Given the description of an element on the screen output the (x, y) to click on. 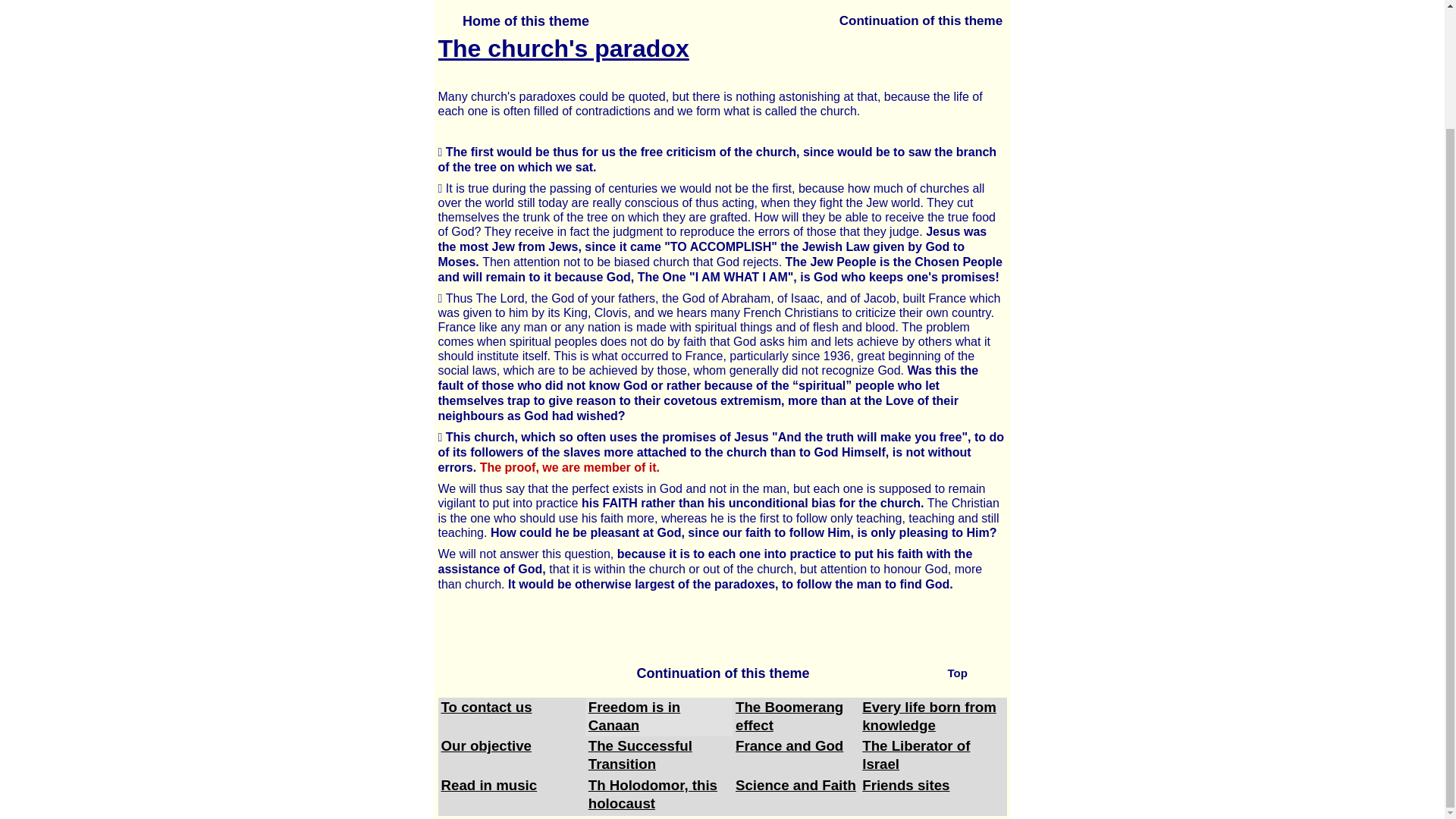
France and God (789, 745)
Home of this theme (524, 20)
Our objective (486, 745)
Friends sites (905, 785)
Top (972, 672)
Continuation of this theme (722, 672)
Th Holodomor, this holocaust (652, 794)
Every life born from knowledge (928, 716)
Science and Faith (795, 785)
